Given the description of an element on the screen output the (x, y) to click on. 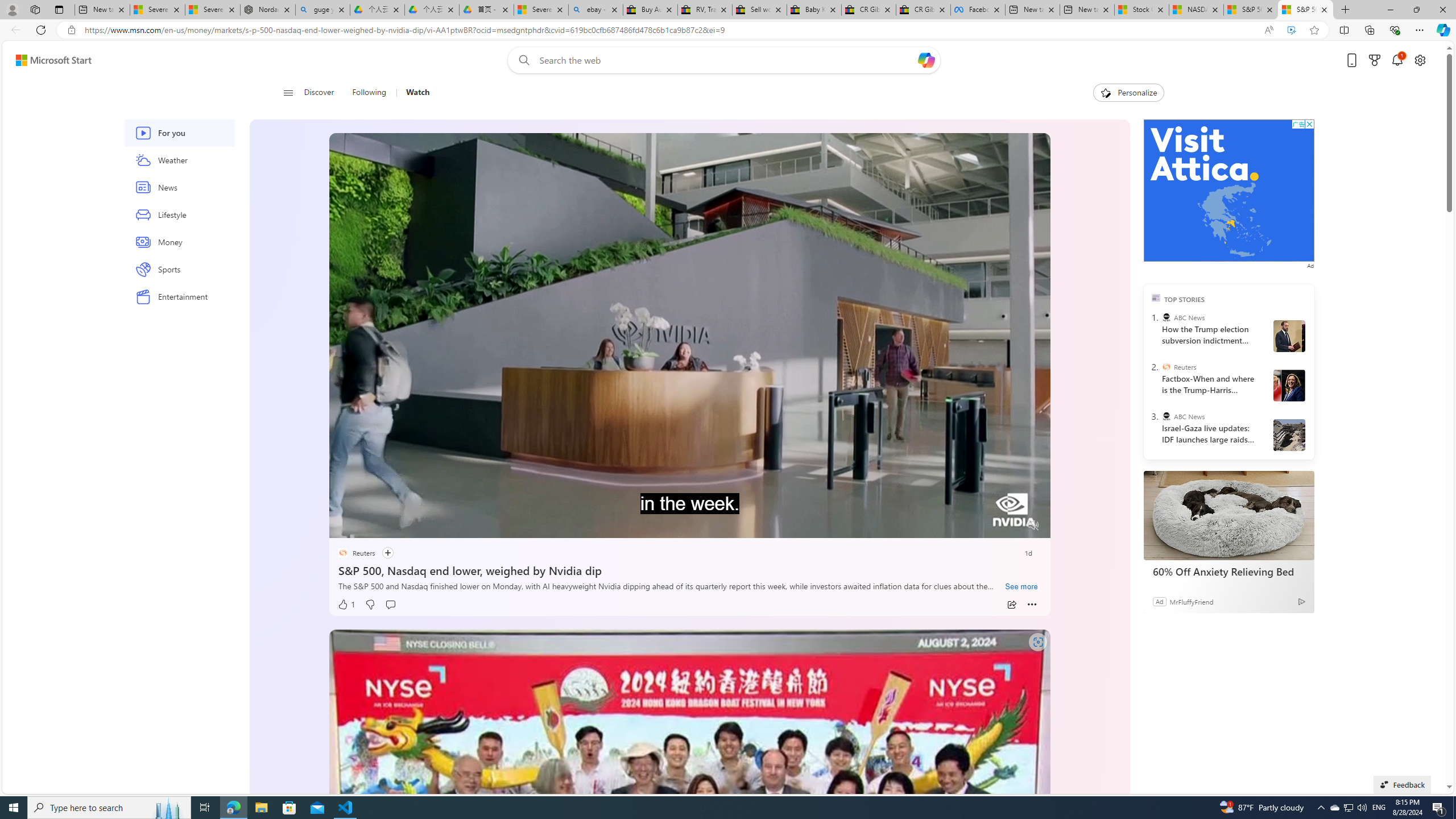
Sell worldwide with eBay (760, 9)
Buy Auto Parts & Accessories | eBay (650, 9)
Skip to content (49, 59)
Enhance video (1291, 29)
